Given the description of an element on the screen output the (x, y) to click on. 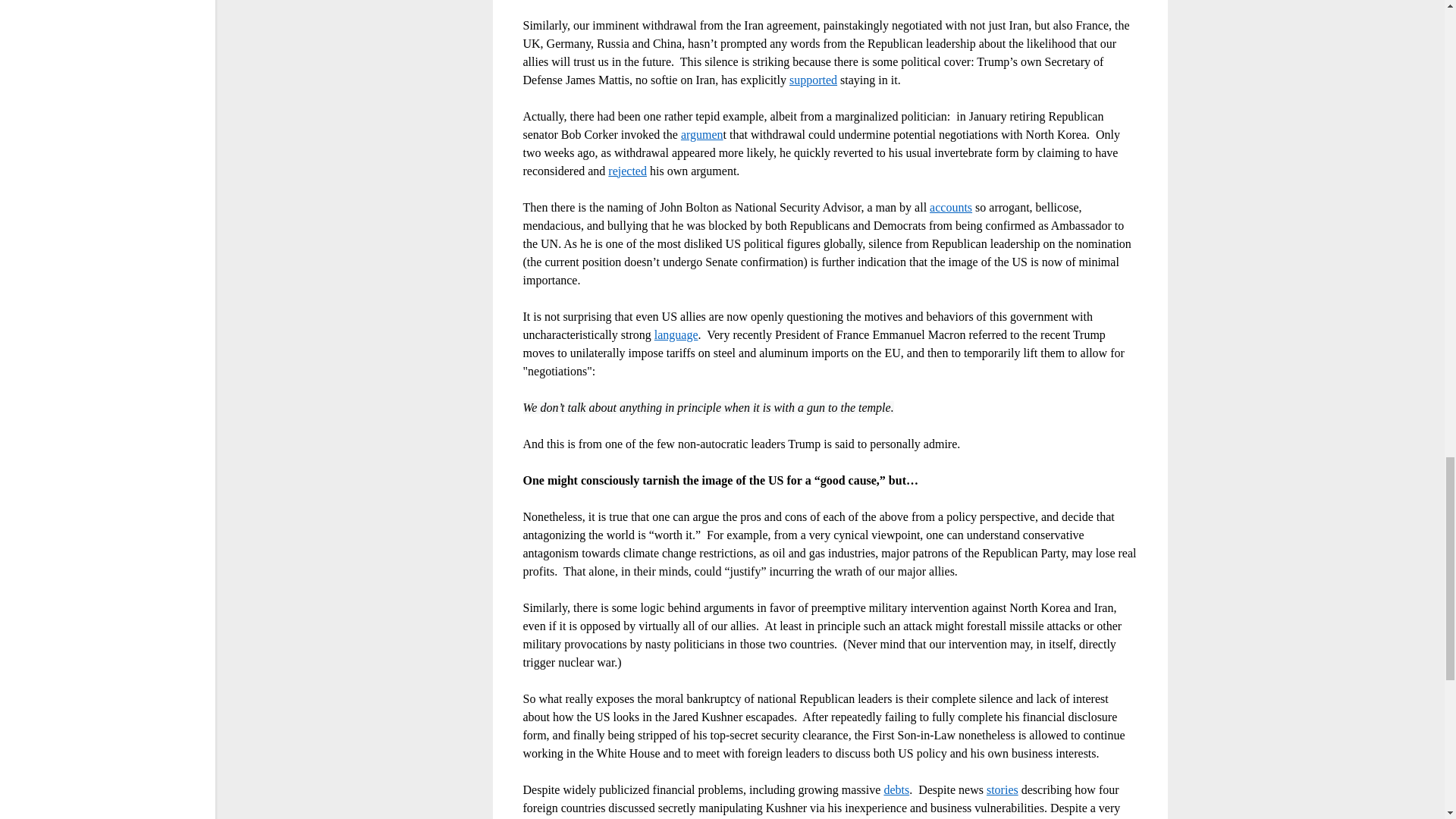
supported (813, 78)
language (675, 333)
debts (895, 788)
stories (1002, 788)
rejected (627, 169)
argumen (702, 133)
accounts (951, 205)
